Given the description of an element on the screen output the (x, y) to click on. 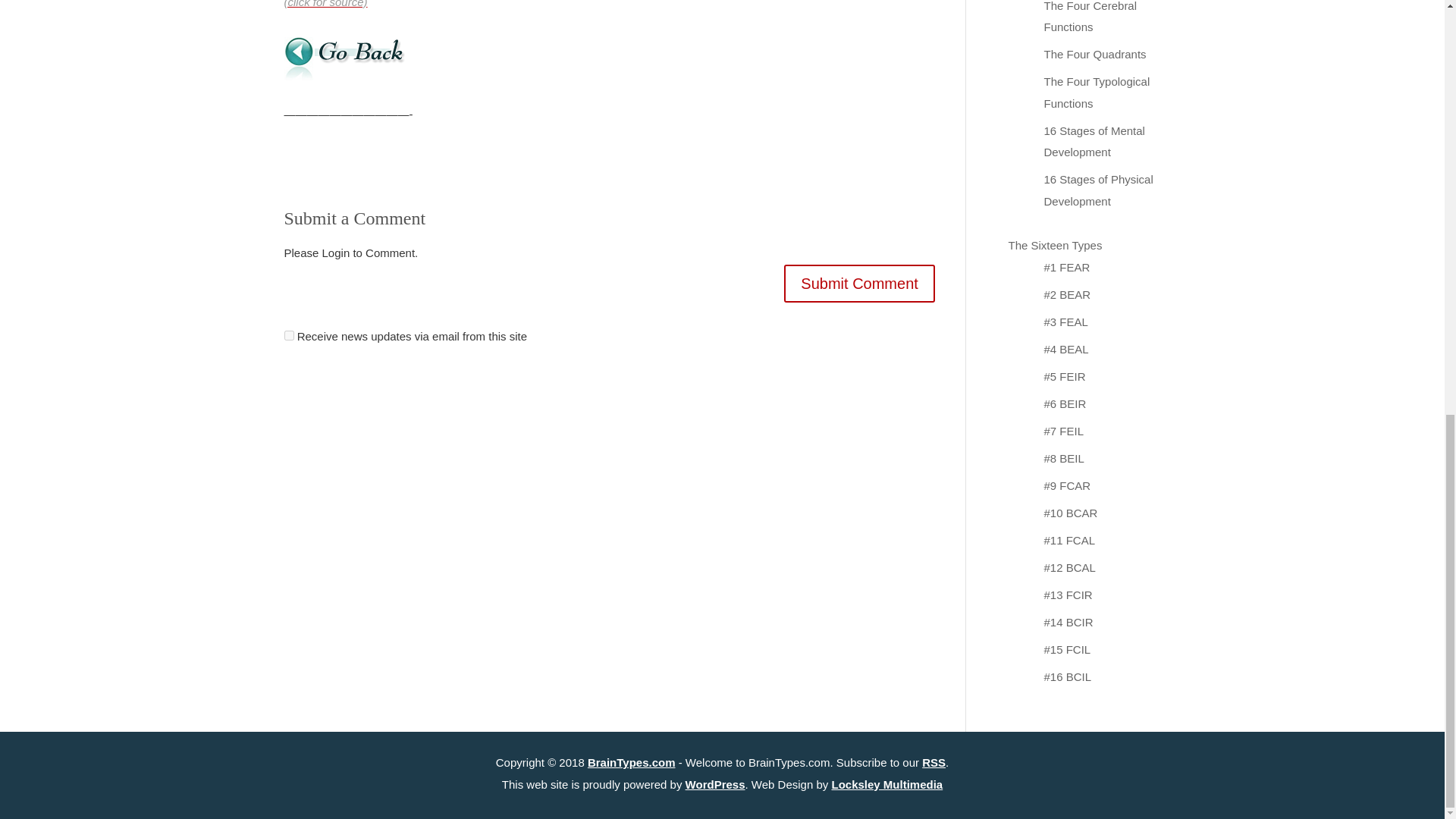
The Sixteen Types (1055, 245)
Submit Comment (859, 283)
1 (288, 335)
BrainTypes.com (631, 761)
16 Stages of Mental Development (1093, 141)
The Four Typological Functions (1096, 92)
The Four Quadrants (1094, 53)
The Four Cerebral Functions (1090, 17)
16 Stages of Physical Development (1098, 190)
Submit Comment (859, 283)
